Given the description of an element on the screen output the (x, y) to click on. 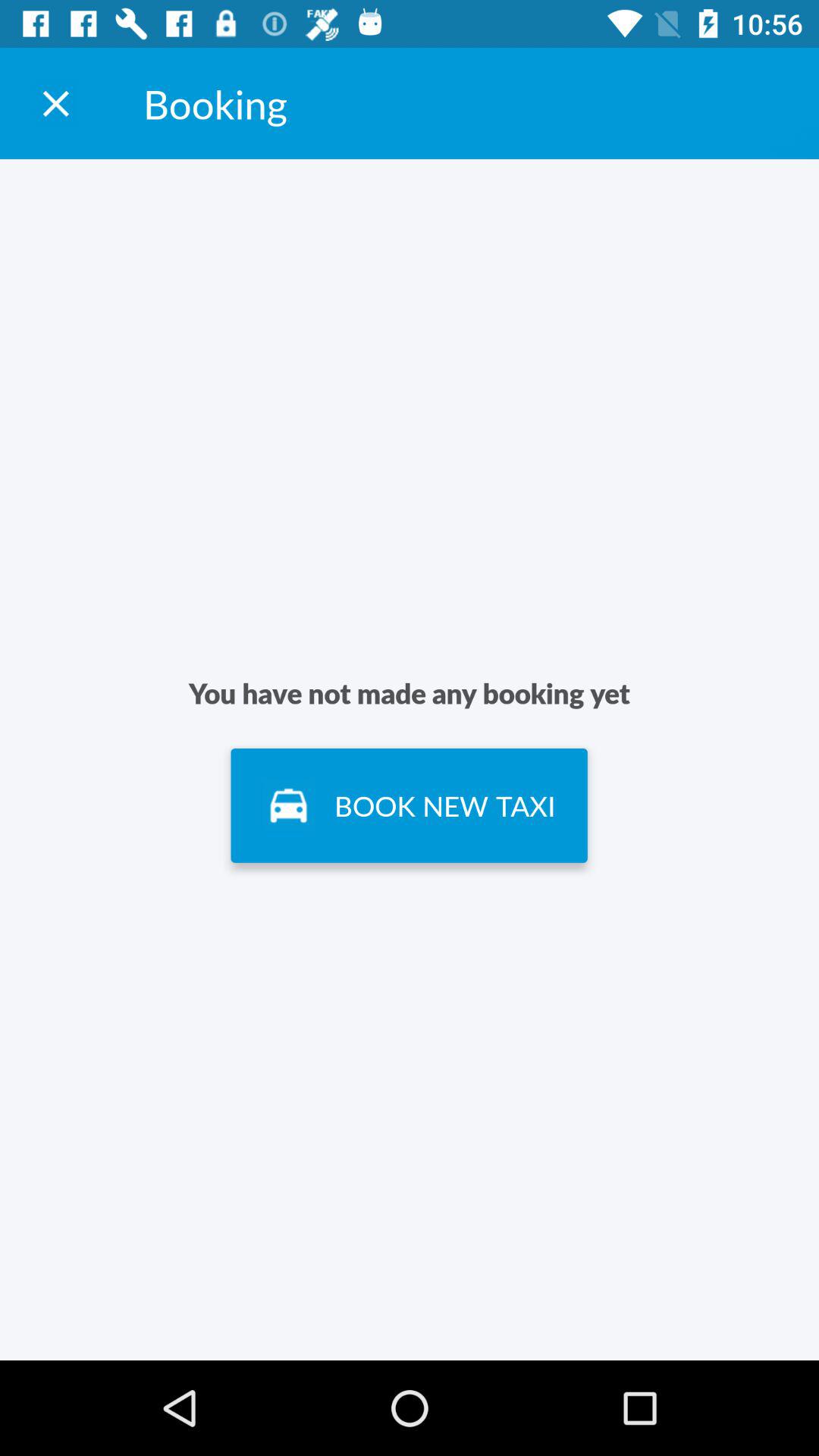
press item below the you have not (408, 805)
